Given the description of an element on the screen output the (x, y) to click on. 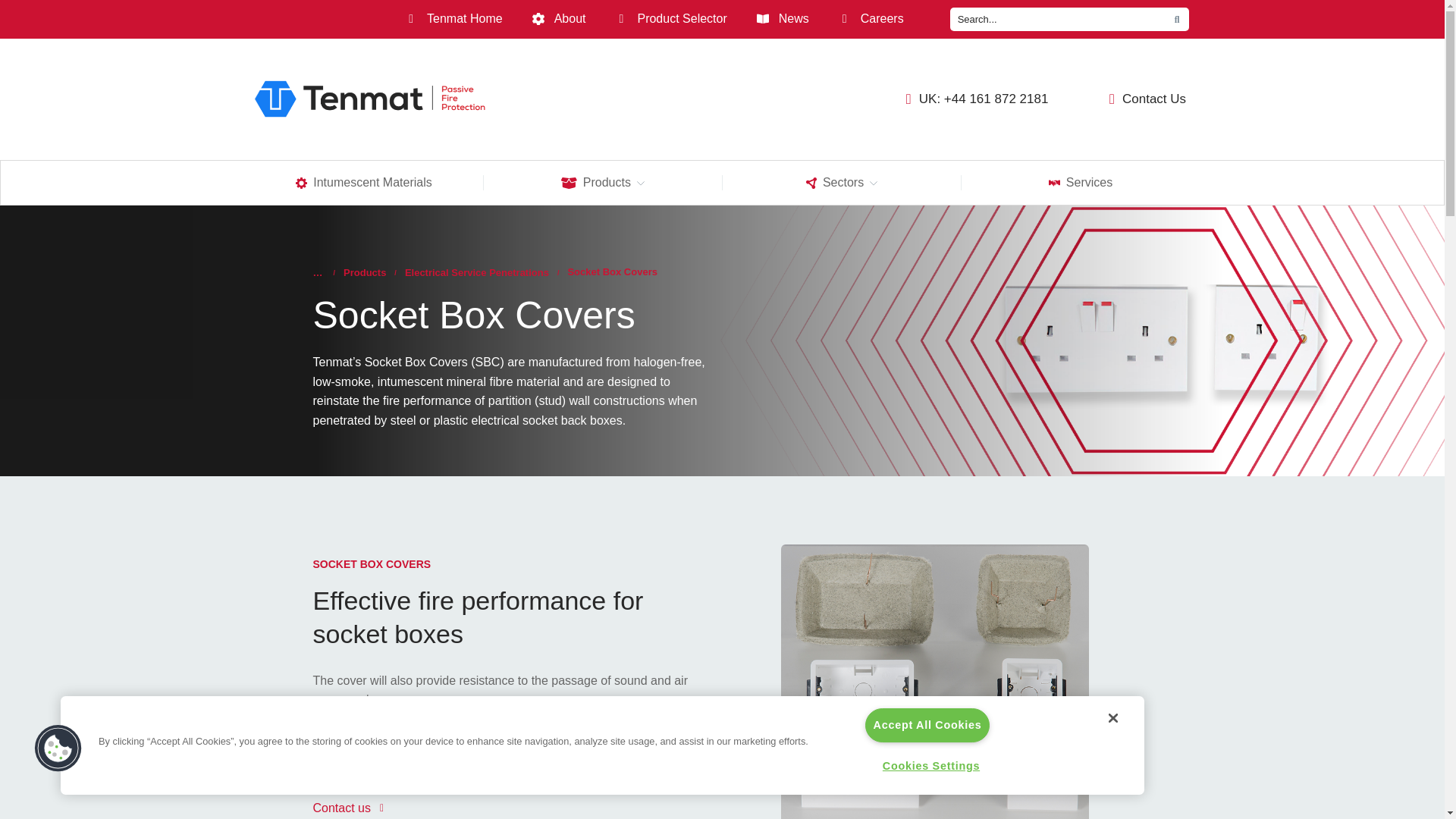
Search (1177, 19)
Careers (871, 19)
Contact Us (1124, 98)
Intumescent Materials (363, 182)
Search (1054, 19)
News (783, 19)
Tenmat Home (453, 19)
Products (364, 273)
Products (602, 182)
About (559, 19)
Product Selector (670, 19)
Electrical Service Penetrations (476, 273)
Cookies Button (57, 748)
